Given the description of an element on the screen output the (x, y) to click on. 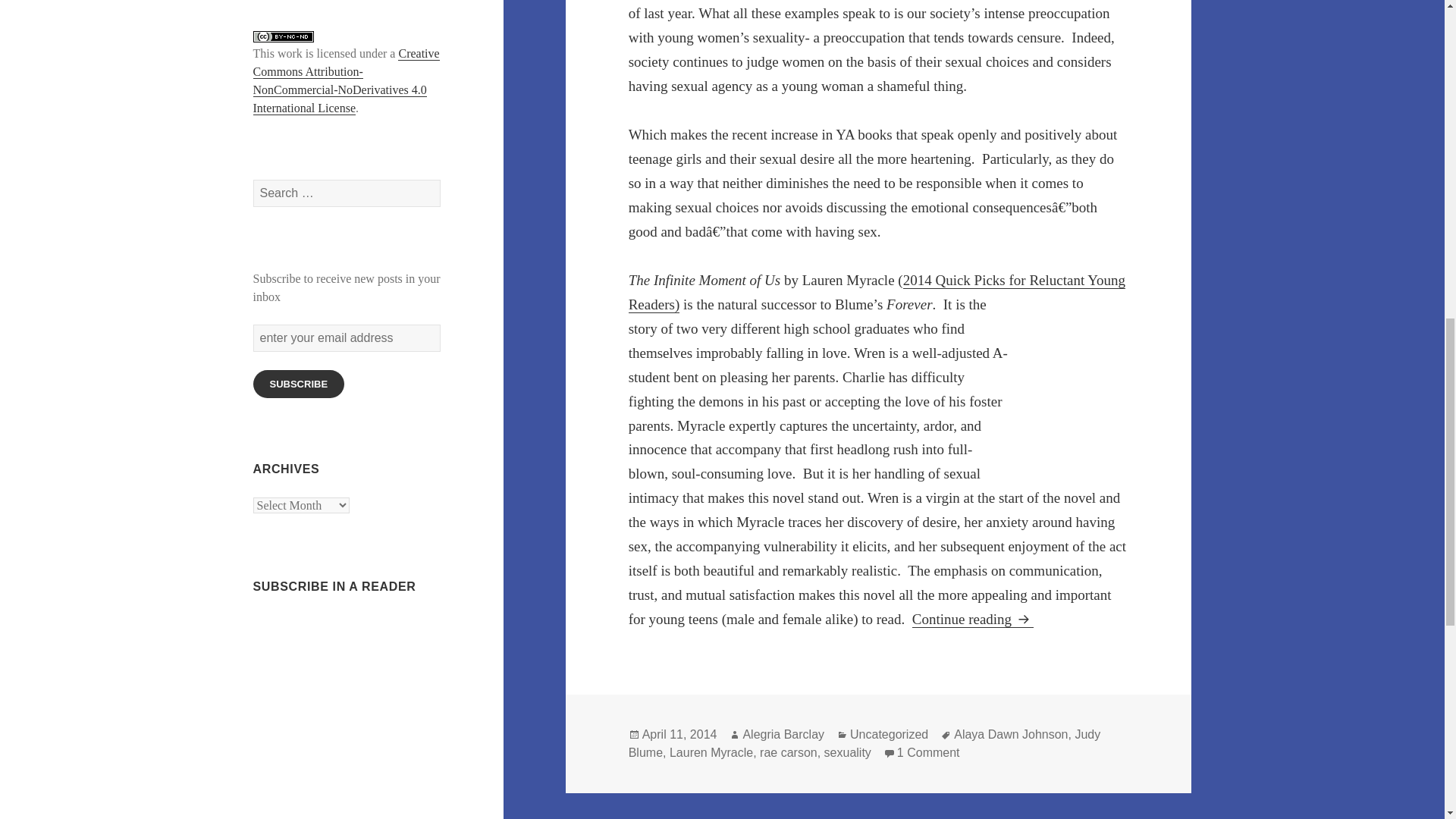
April 11, 2014 (679, 735)
SUBSCRIBE (299, 384)
